Given the description of an element on the screen output the (x, y) to click on. 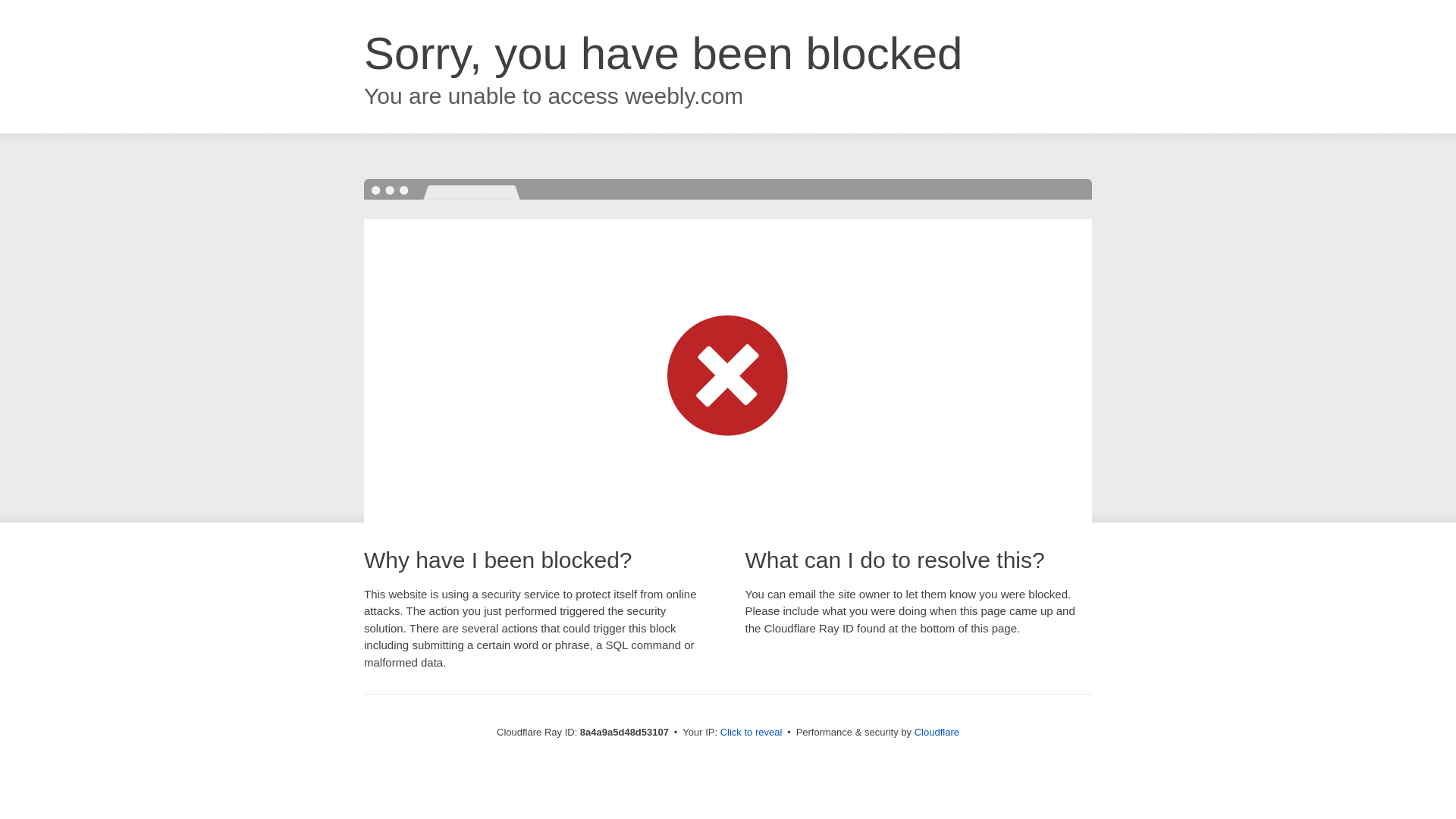
Cloudflare (936, 731)
Click to reveal (751, 732)
